Given the description of an element on the screen output the (x, y) to click on. 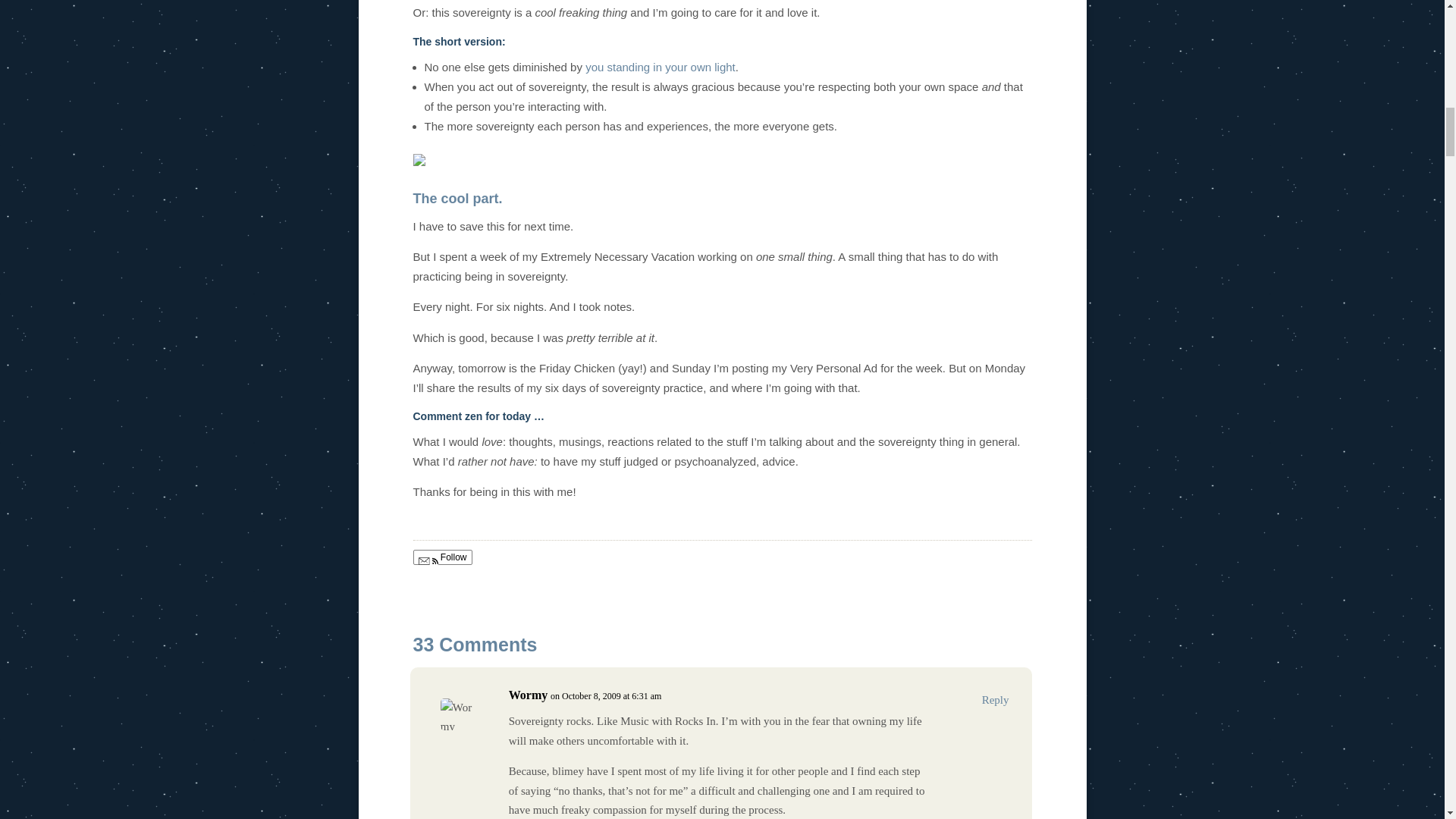
Reply (995, 700)
you standing in your own light (660, 66)
Follow (441, 556)
Email, RSS (428, 562)
Wormy (528, 695)
